Given the description of an element on the screen output the (x, y) to click on. 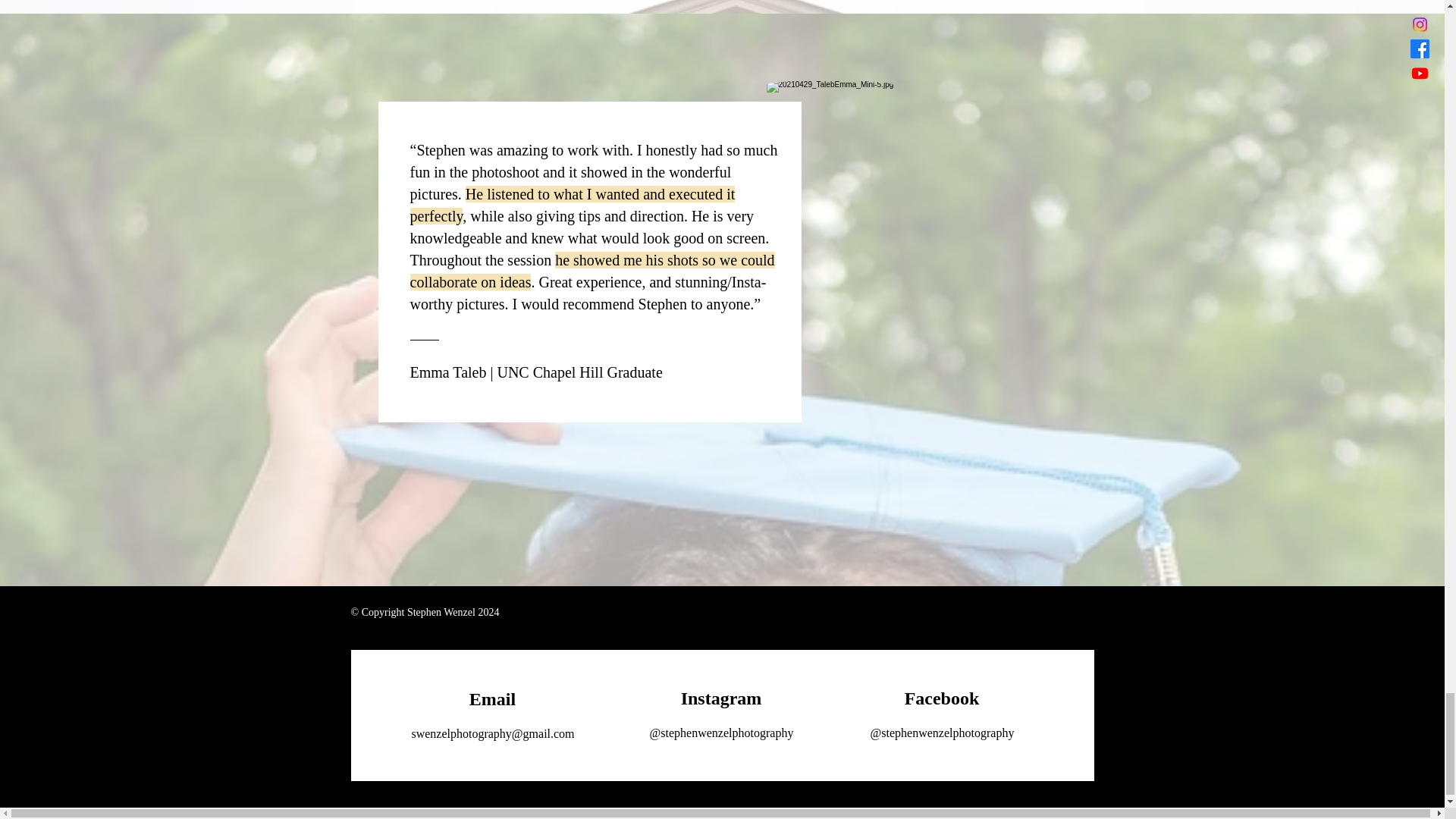
Instagram (721, 698)
Email (491, 699)
Facebook (941, 698)
